Given the description of an element on the screen output the (x, y) to click on. 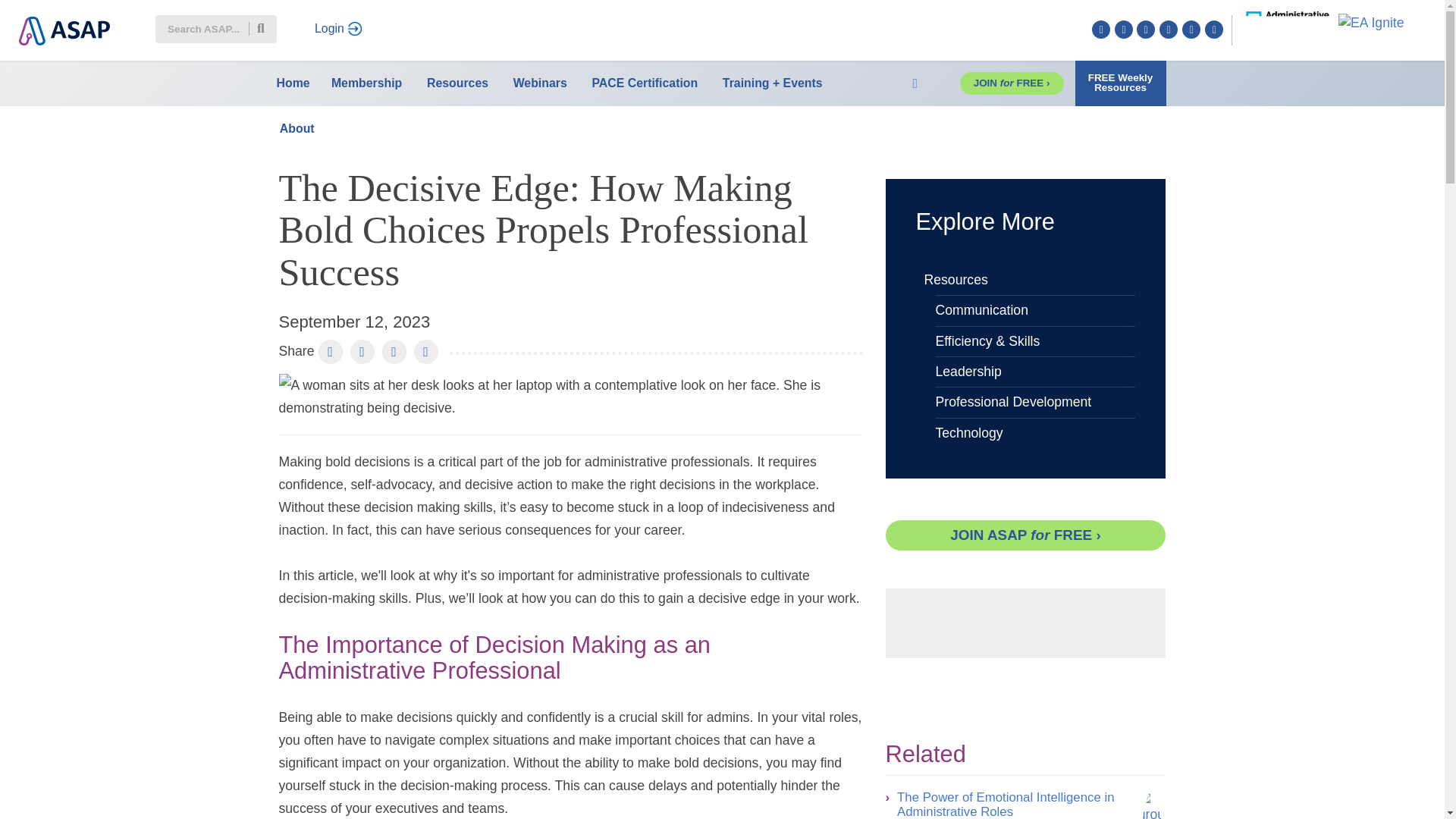
EA Ignite (1371, 21)
Webinars (540, 83)
Join ASAP (1011, 83)
FREE weekly resources! (1120, 83)
The Power of Emotional Intelligence in Administrative Roles (1152, 805)
APC (1284, 21)
Login (338, 28)
Home (292, 83)
Join ASAP (1025, 535)
American Society of Administrative Professionals (60, 22)
PACE Certification (644, 83)
Resources (456, 83)
